Given the description of an element on the screen output the (x, y) to click on. 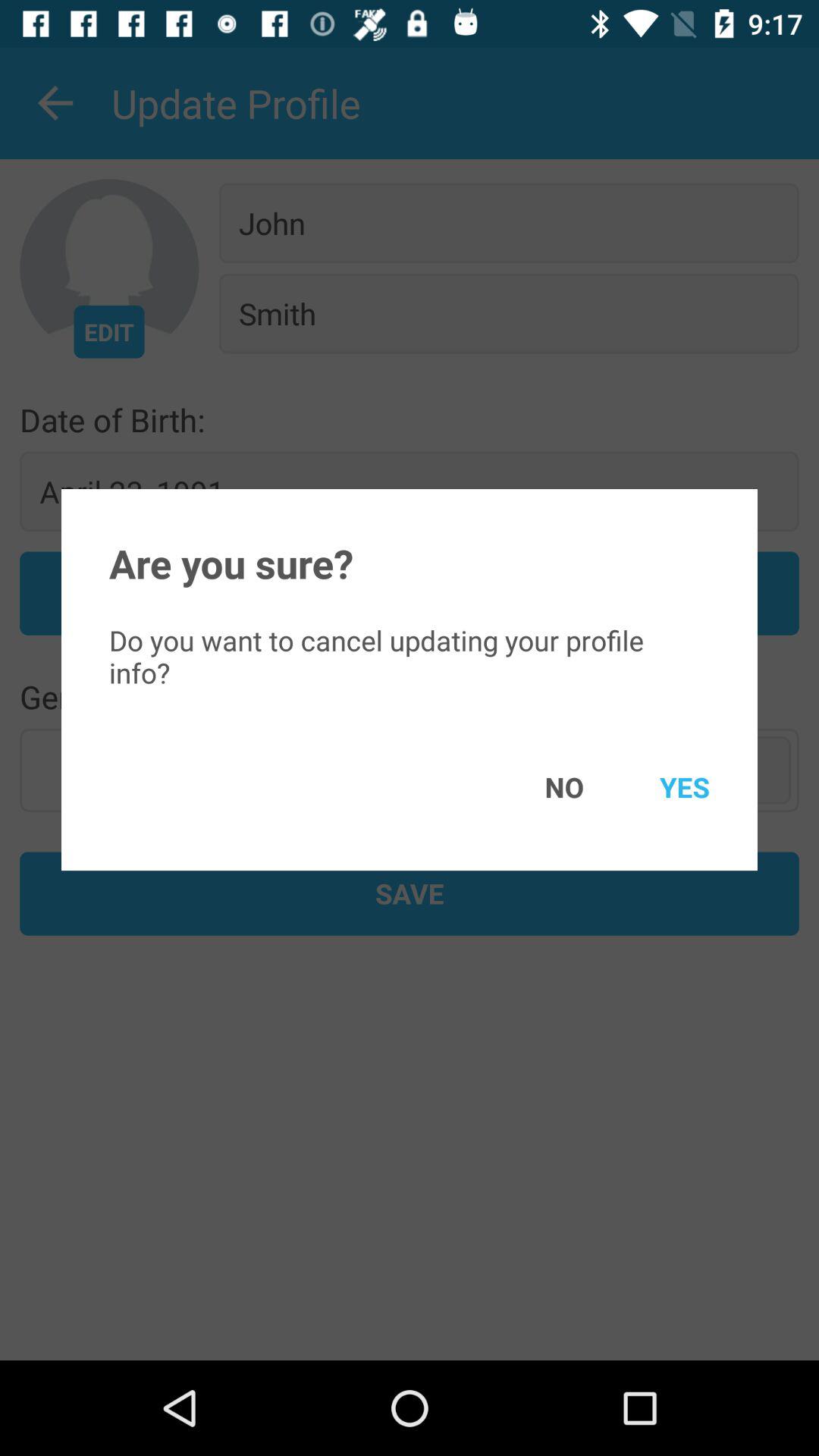
turn off yes item (662, 786)
